Given the description of an element on the screen output the (x, y) to click on. 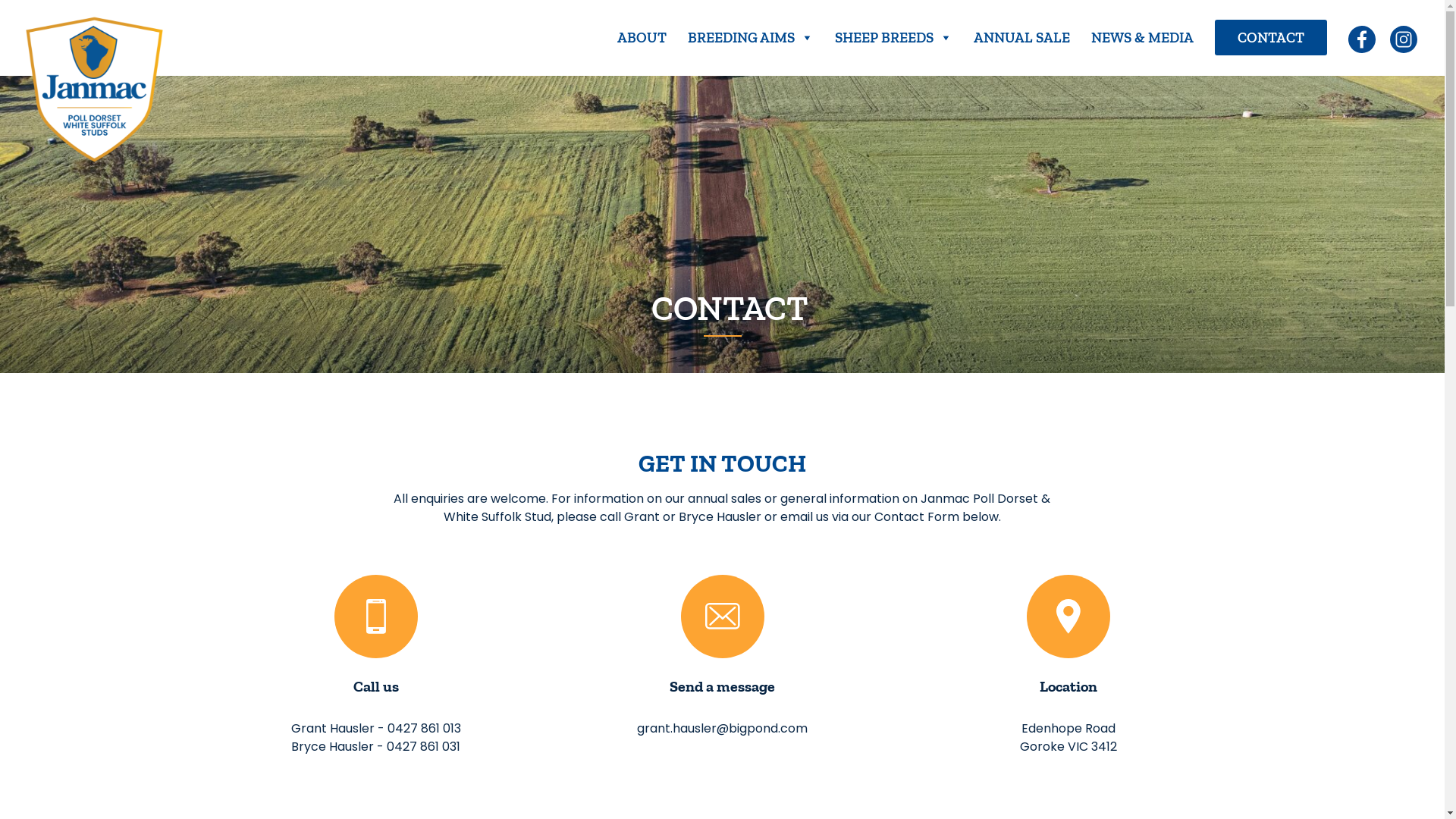
CONTACT Element type: text (1270, 37)
ABOUT Element type: text (641, 37)
NEWS & MEDIA Element type: text (1142, 37)
SHEEP BREEDS Element type: text (893, 37)
ANNUAL SALE Element type: text (1021, 37)
BREEDING AIMS Element type: text (750, 37)
